Given the description of an element on the screen output the (x, y) to click on. 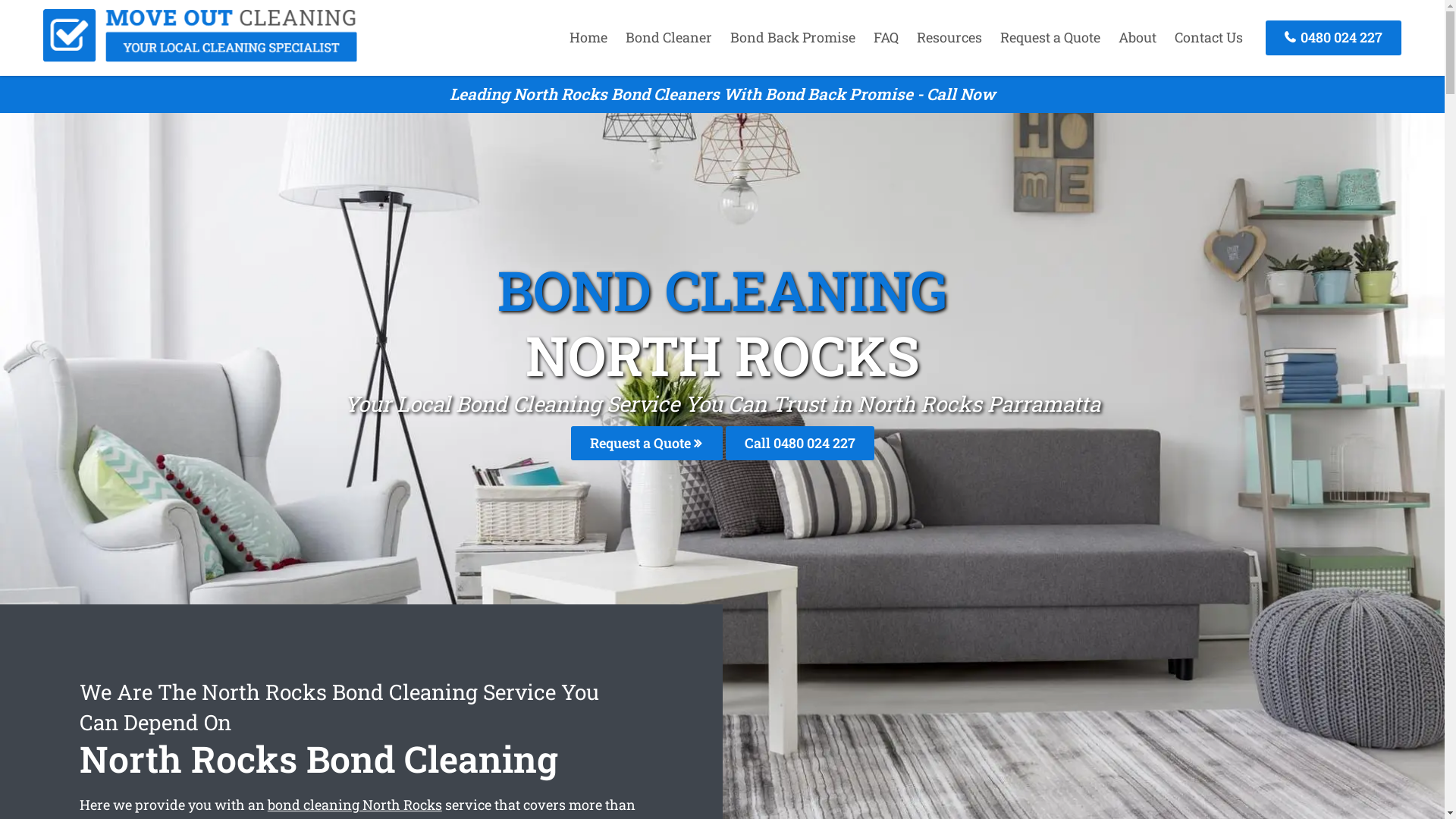
About Element type: text (1137, 37)
Home Element type: text (588, 37)
Bond Back Promise Element type: text (792, 37)
Bond Cleaner Element type: text (668, 37)
Request a Quote Element type: text (1049, 37)
0480 024 227 Element type: text (1333, 37)
Contact Us Element type: text (1208, 37)
FAQ Element type: text (886, 37)
bond cleaning North Rocks Element type: text (354, 804)
Request a Quote Element type: text (645, 443)
Resources Element type: text (949, 37)
End of Lease Cleaning Element type: hover (200, 56)
Call 0480 024 227 Element type: text (798, 443)
